Given the description of an element on the screen output the (x, y) to click on. 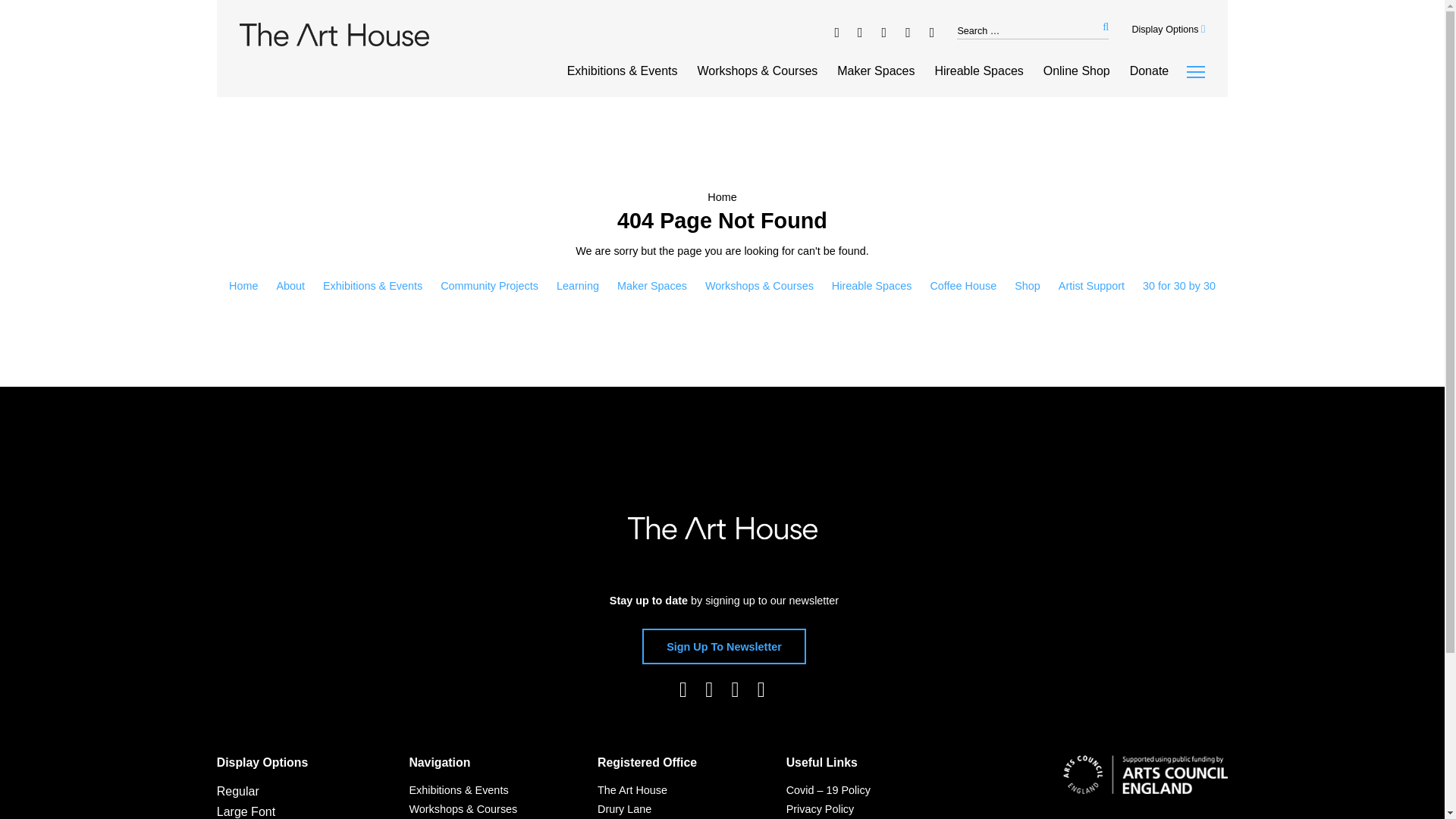
Contact Us (631, 801)
Maker Spaces (875, 71)
The Art House (721, 527)
artsCouncilEngland (1144, 812)
Donate (1149, 71)
Hireable Spaces (978, 71)
Online Shop (1076, 71)
